Given the description of an element on the screen output the (x, y) to click on. 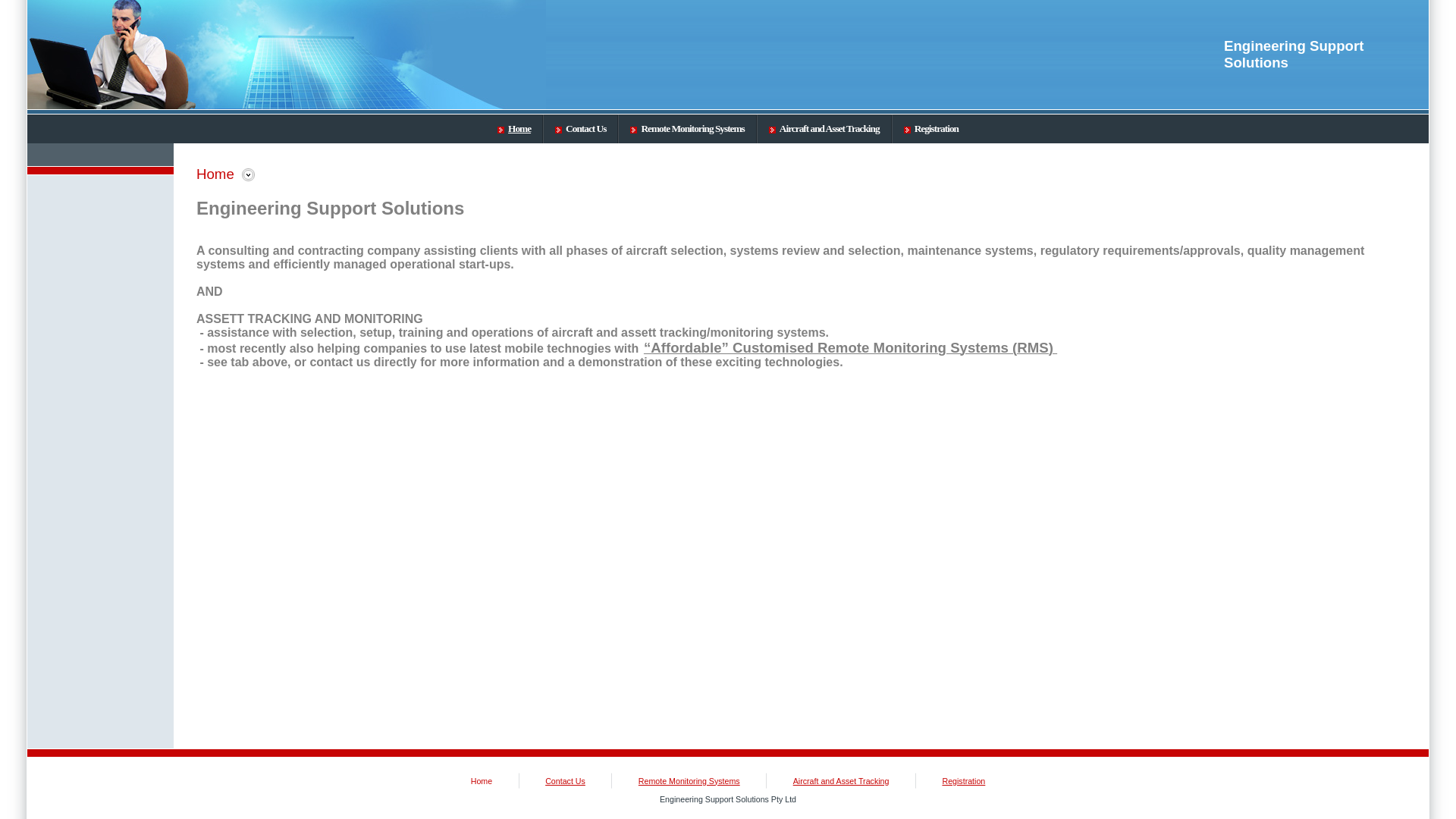
Remote Monitoring Systems Element type: text (689, 780)
Aircraft and Asset Tracking Element type: text (823, 128)
Contact Us Element type: text (580, 128)
Contact Us Element type: text (565, 780)
Registration Element type: text (963, 780)
Remote Monitoring Systems Element type: text (686, 128)
Registration Element type: text (930, 128)
Aircraft and Asset Tracking Element type: text (841, 780)
